Given the description of an element on the screen output the (x, y) to click on. 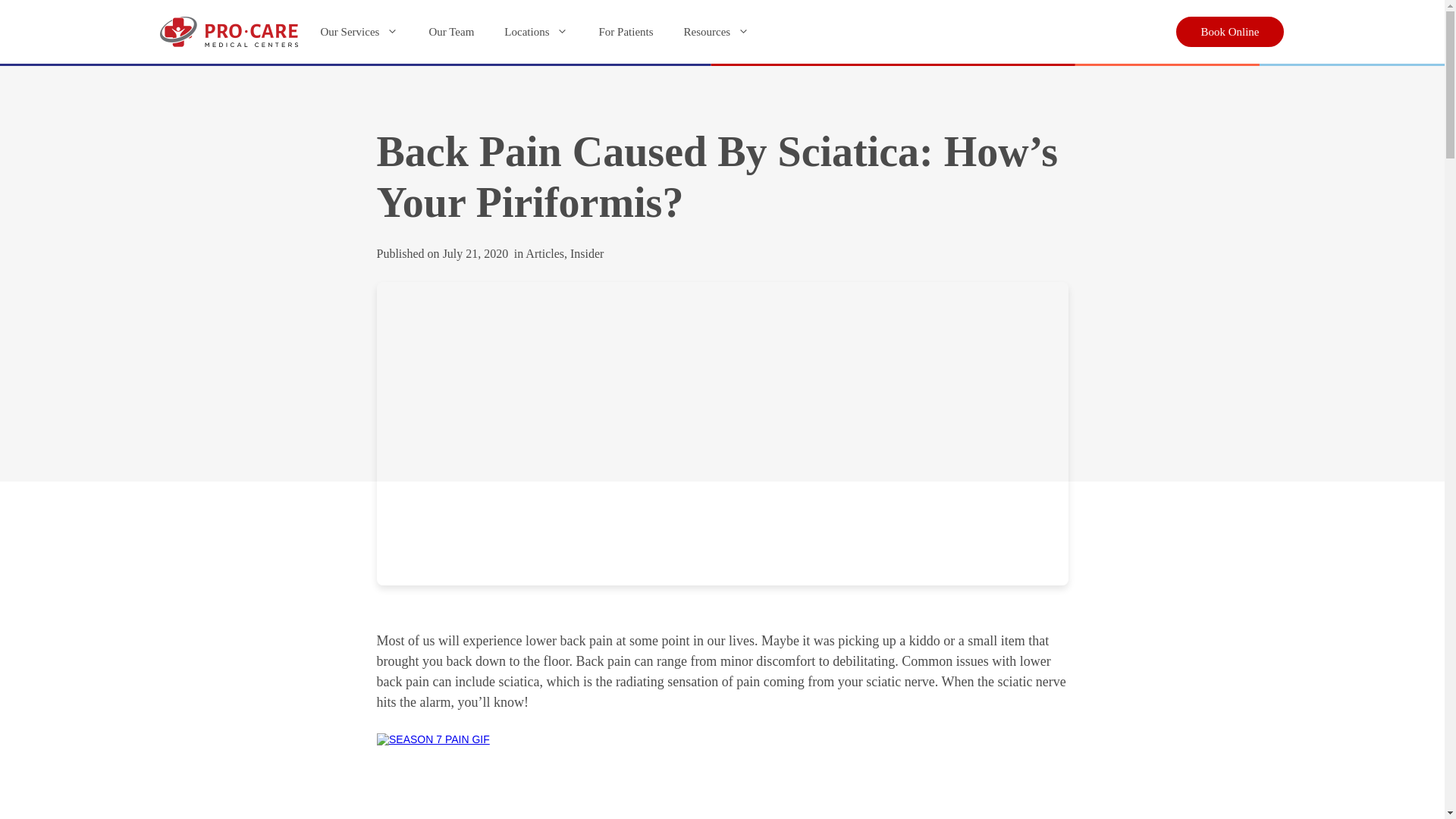
Our Services (358, 31)
For Patients (625, 31)
Our Team (451, 31)
Book Online (1229, 31)
Resources (716, 31)
Locations (536, 31)
Pro-Care Medical Centers (227, 31)
